Given the description of an element on the screen output the (x, y) to click on. 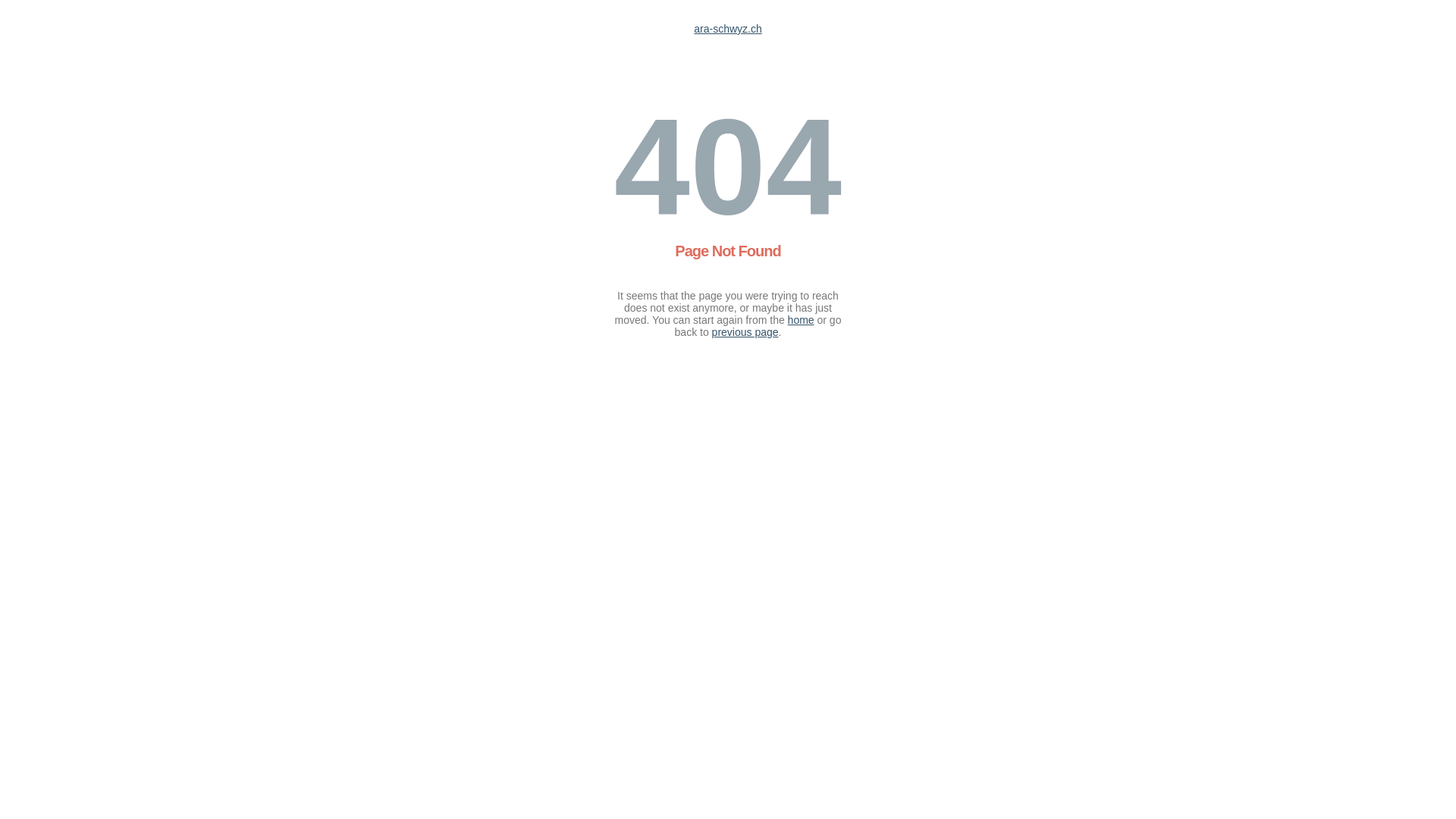
home Element type: text (800, 319)
previous page Element type: text (745, 332)
ara-schwyz.ch Element type: text (727, 28)
